Given the description of an element on the screen output the (x, y) to click on. 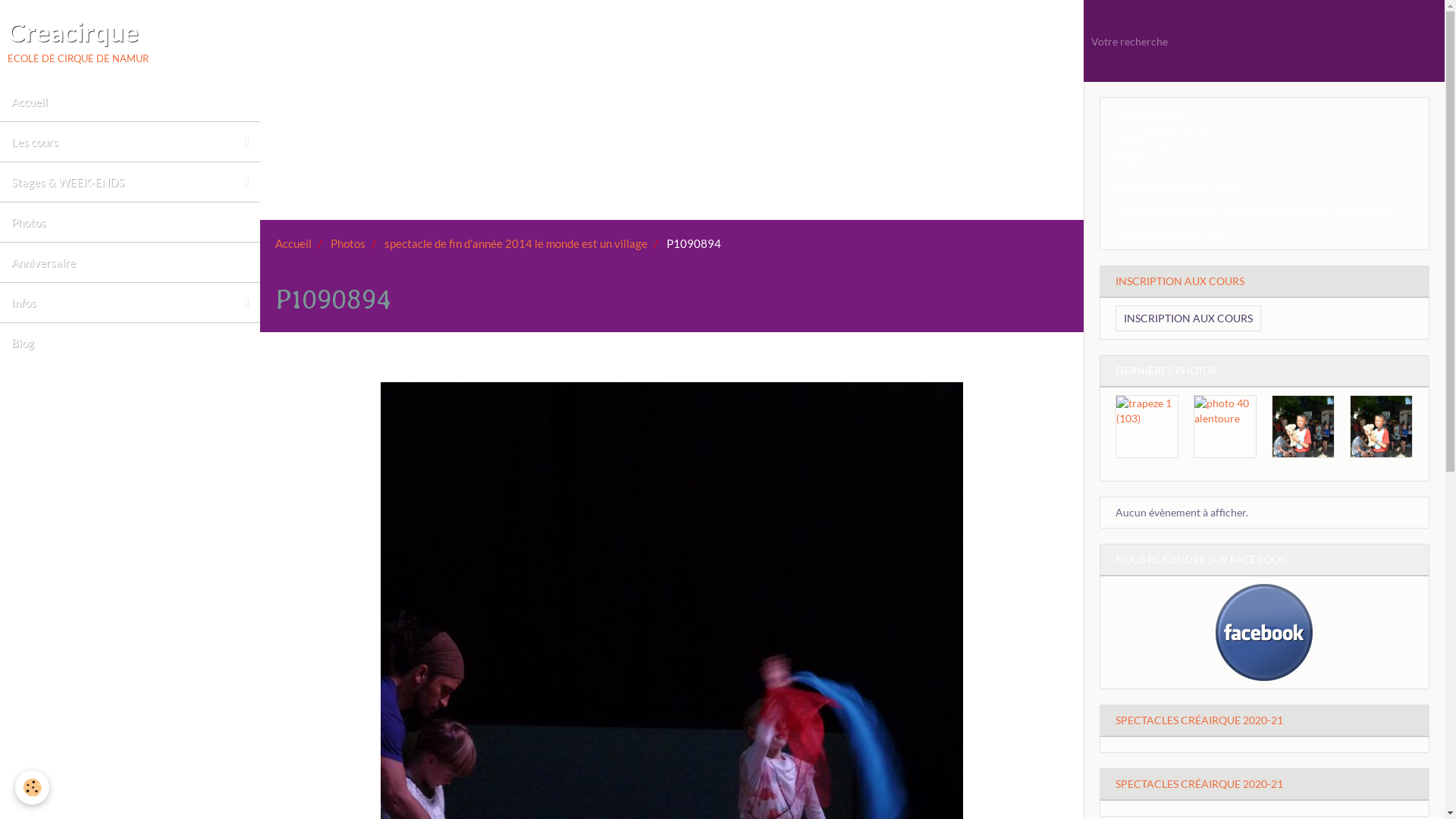
Accueil Element type: text (130, 101)
Infos Element type: text (130, 302)
Accueil Element type: text (293, 243)
Creacirque
ecole de cirque de namur Element type: text (77, 40)
Les cours Element type: text (130, 141)
Stages & WEEK-ENDS Element type: text (130, 181)
INSCRIPTION AUX COURS Element type: text (1188, 318)
Photos Element type: text (130, 221)
Anniversaire Element type: text (130, 262)
Blog Element type: text (130, 342)
INSCRIPTION AUX COURS Element type: text (1264, 281)
Photos Element type: text (347, 243)
